Given the description of an element on the screen output the (x, y) to click on. 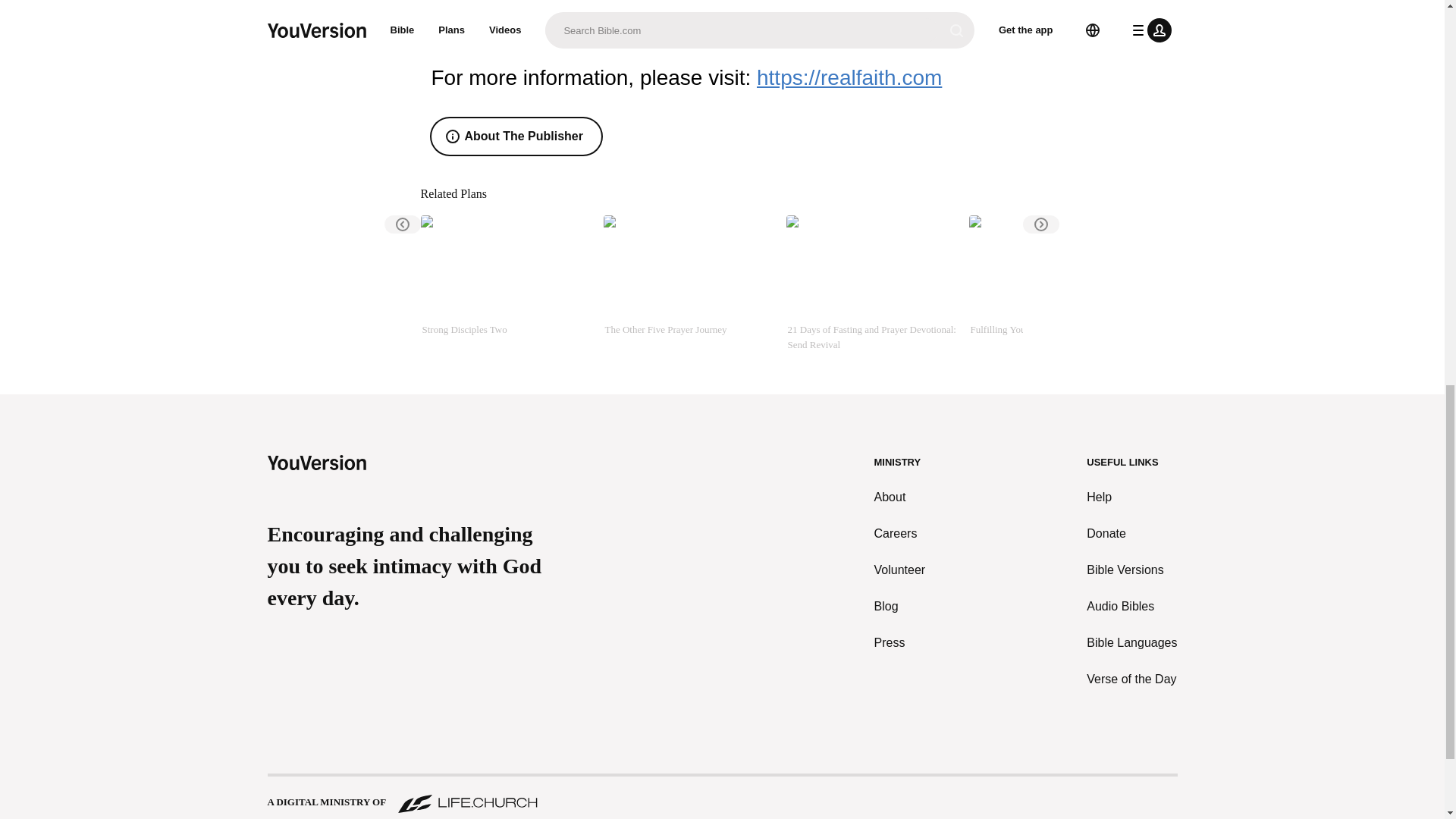
Careers (900, 533)
21 Days of Fasting and Prayer Devotional: Send Revival (871, 283)
Donate (1131, 533)
The Other Five Prayer Journey (689, 283)
Verse of the Day (1131, 679)
Bible Languages (1131, 642)
Fulfilling Your Purpose (1054, 283)
Audio Bibles (1131, 606)
Press (900, 642)
Bible Versions (1131, 570)
